Given the description of an element on the screen output the (x, y) to click on. 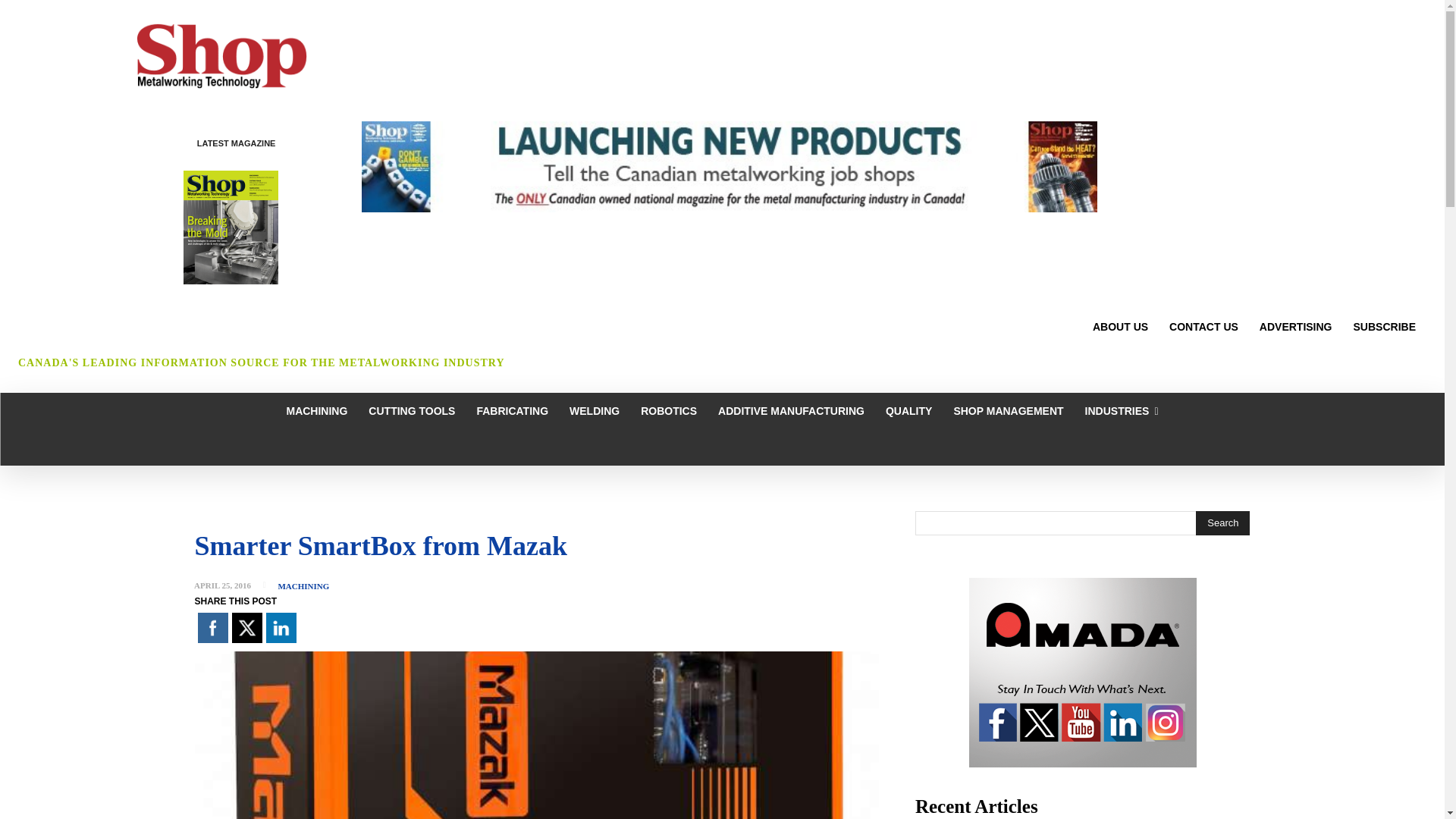
CONTACT US (1203, 326)
ABOUT US (1119, 326)
Facebook (211, 627)
LinkedIn (279, 627)
ADVERTISING (1295, 326)
Twitter (246, 627)
